Given the description of an element on the screen output the (x, y) to click on. 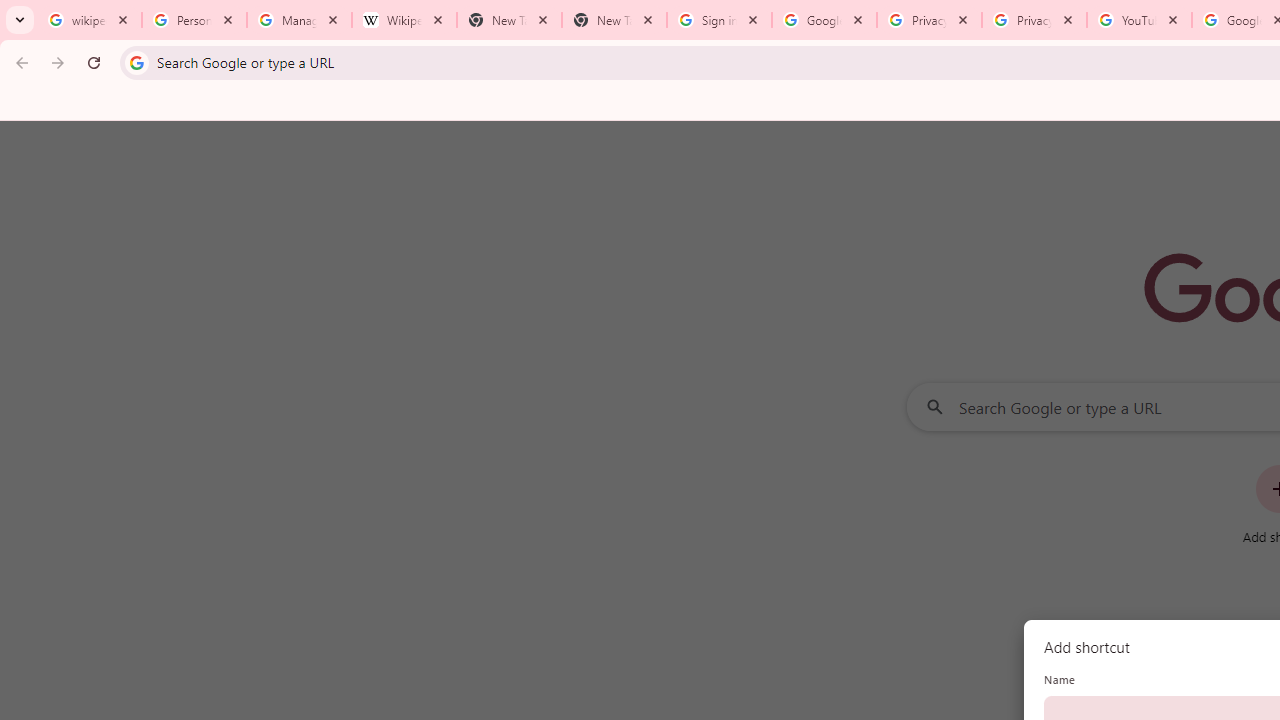
Google Drive: Sign-in (823, 20)
Personalization & Google Search results - Google Search Help (194, 20)
Sign in - Google Accounts (718, 20)
Manage your Location History - Google Search Help (299, 20)
